Given the description of an element on the screen output the (x, y) to click on. 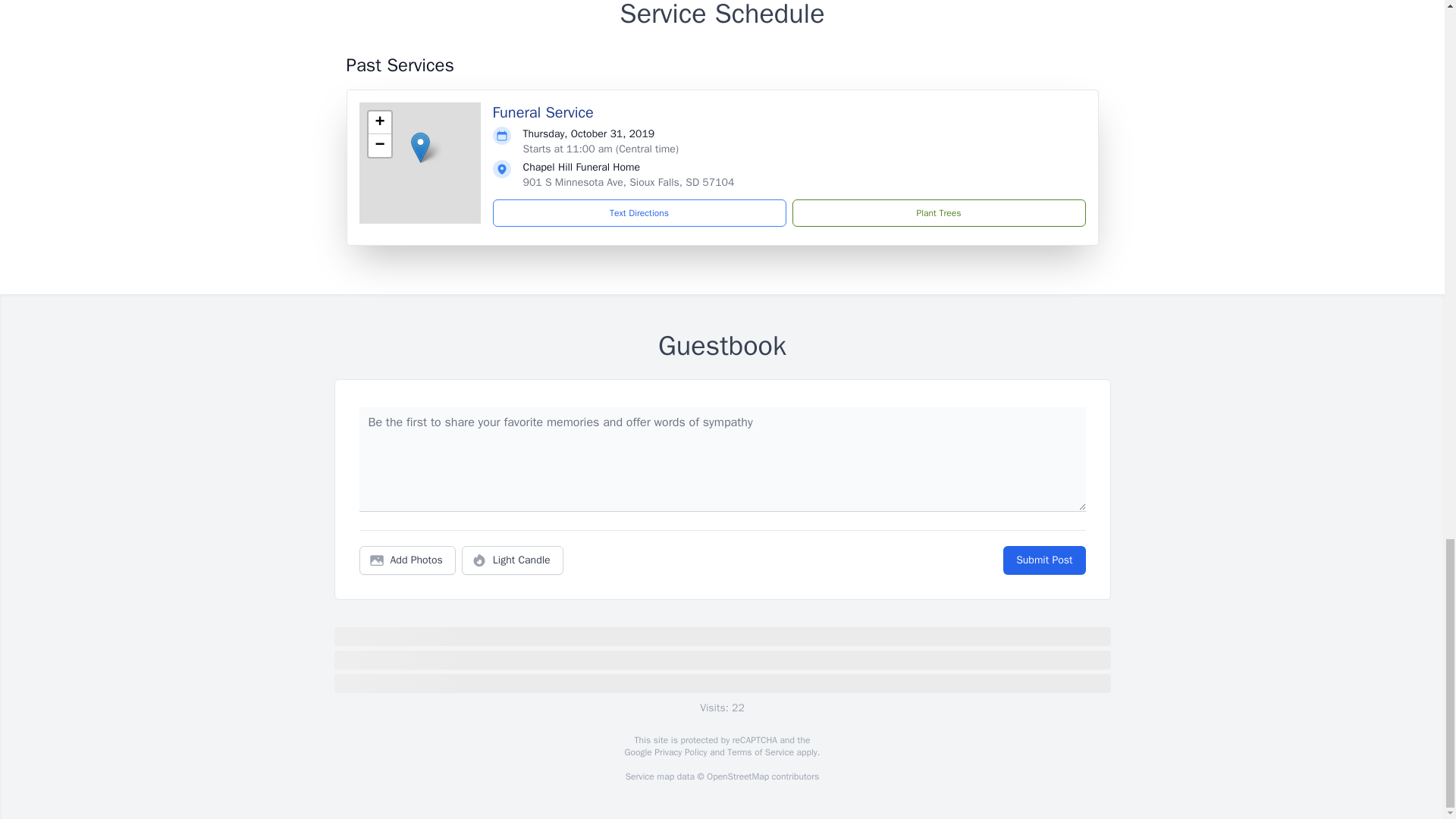
Zoom in (379, 122)
901 S Minnesota Ave, Sioux Falls, SD 57104 (628, 182)
Light Candle (512, 560)
OpenStreetMap (737, 776)
Submit Post (1043, 560)
Terms of Service (759, 752)
Zoom out (379, 145)
Privacy Policy (679, 752)
Plant Trees (938, 212)
Text Directions (639, 212)
Add Photos (407, 560)
